Given the description of an element on the screen output the (x, y) to click on. 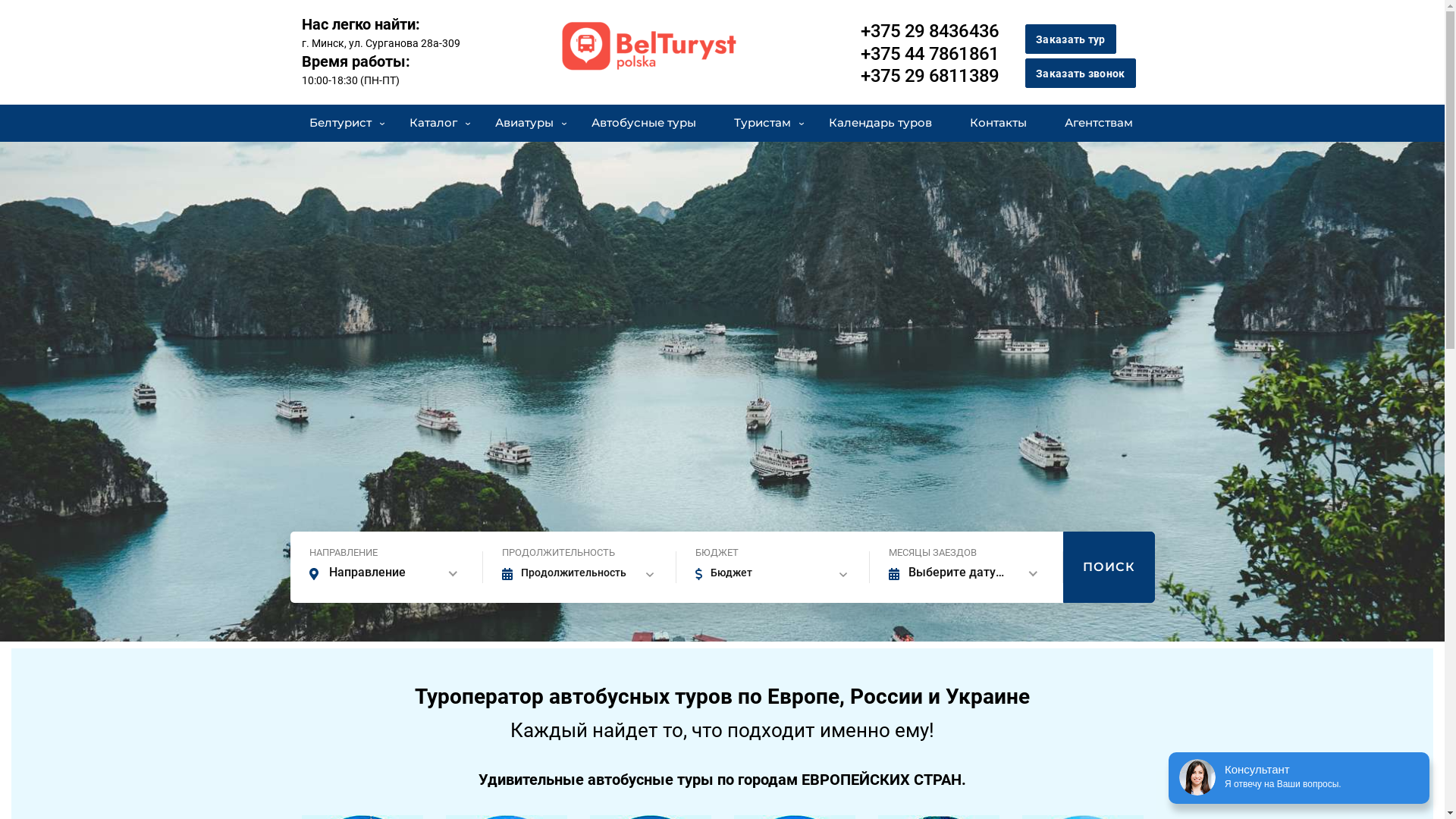
+375 29 6811389 Element type: text (929, 75)
+375 44 7861861 Element type: text (929, 52)
+375 29 8436436 Element type: text (929, 30)
